Given the description of an element on the screen output the (x, y) to click on. 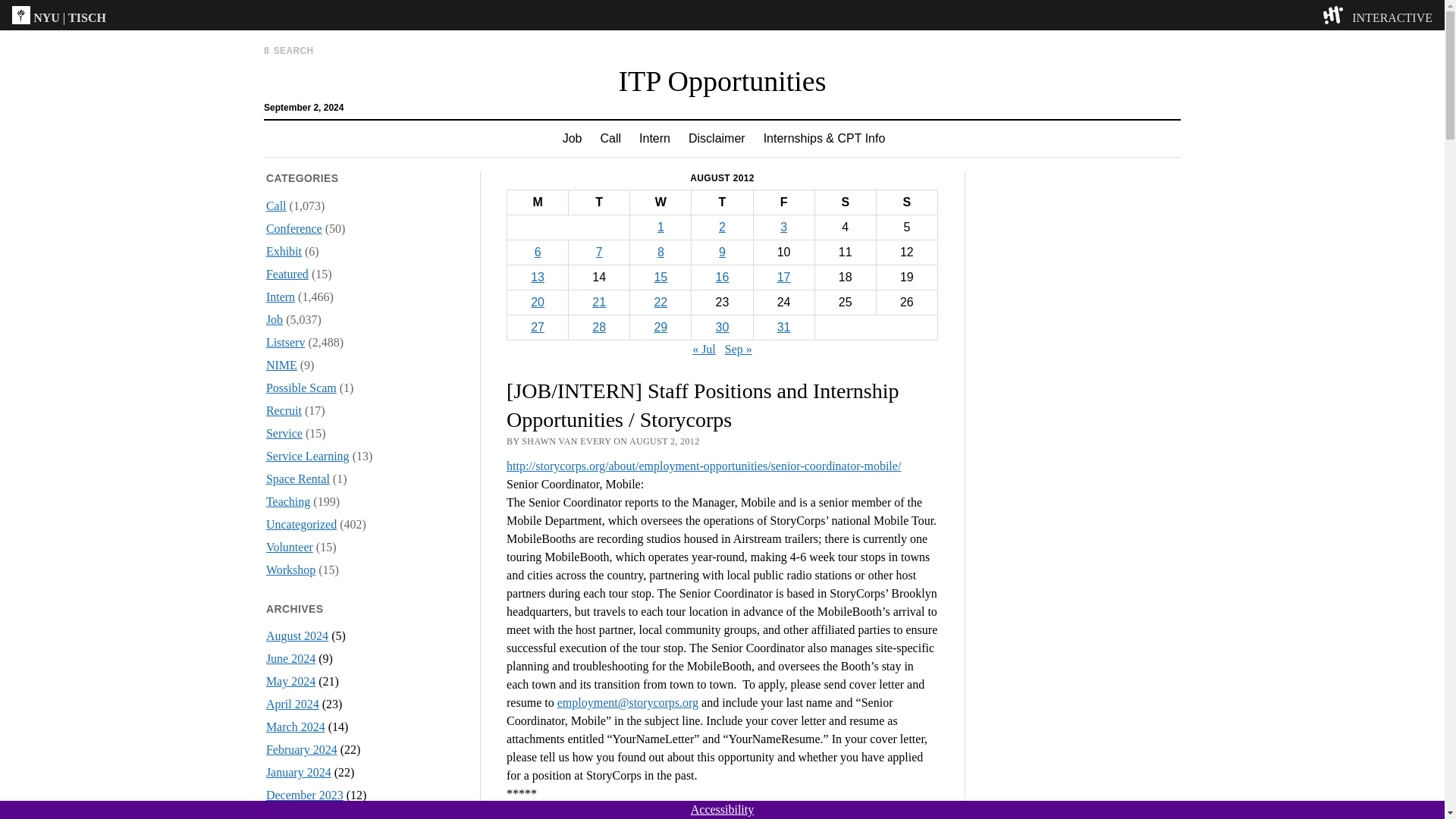
Conference (293, 228)
Volunteer (289, 546)
Teaching (288, 501)
Possible Scam (301, 387)
Job (274, 318)
NYU (46, 17)
Disclaimer (716, 138)
Search (945, 129)
Wednesday (660, 201)
INTERACTIVE (1392, 17)
